Given the description of an element on the screen output the (x, y) to click on. 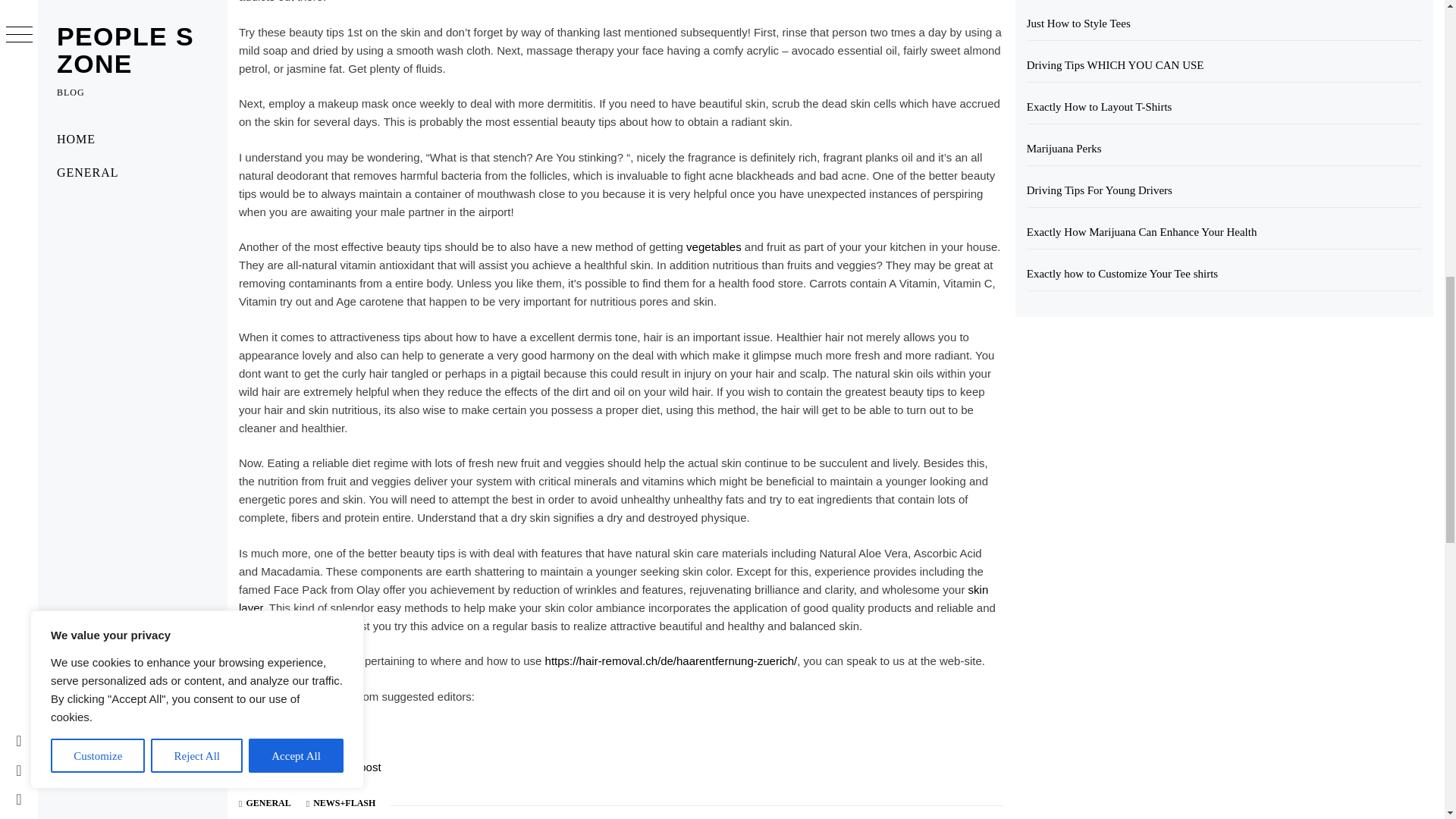
vegetables (713, 246)
Try this site (267, 730)
just click the up coming post (309, 766)
GENERAL (267, 802)
skin layer (613, 598)
